Given the description of an element on the screen output the (x, y) to click on. 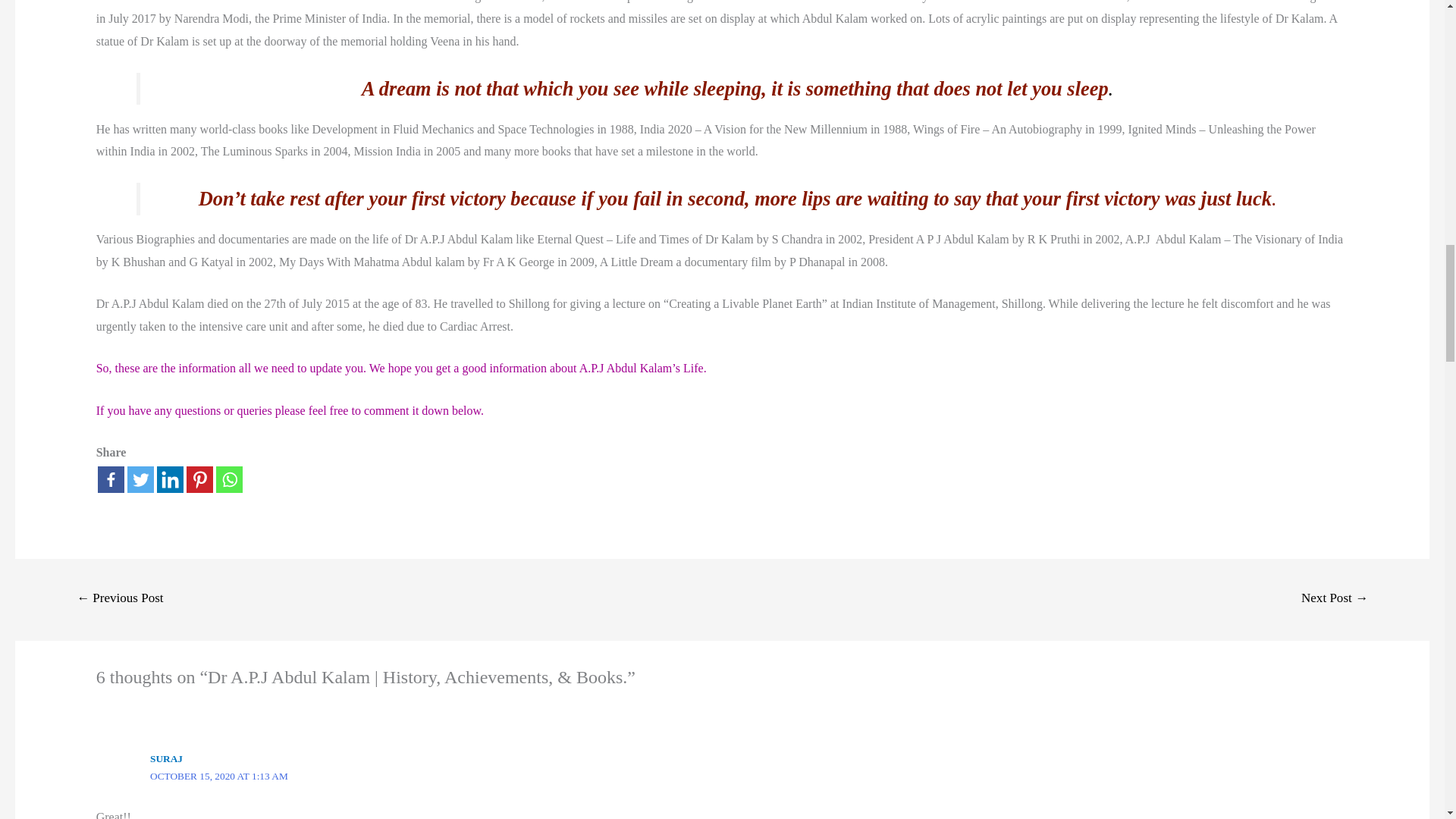
Whatsapp (229, 479)
Twitter (141, 479)
OCTOBER 15, 2020 AT 1:13 AM (218, 776)
Linkedin (170, 479)
Pinterest (199, 479)
Facebook (110, 479)
